Given the description of an element on the screen output the (x, y) to click on. 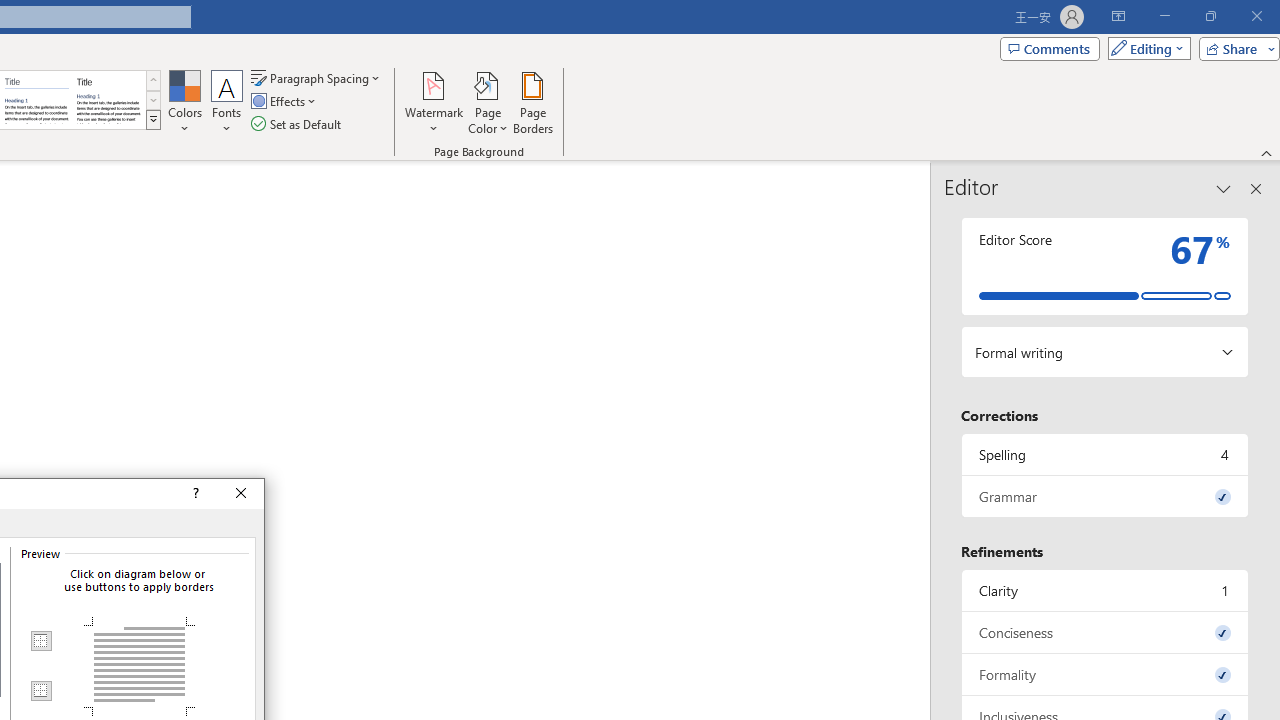
Formality, 0 issues. Press space or enter to review items. (1105, 673)
Watermark (434, 102)
Colors (184, 102)
Clarity, 1 issue. Press space or enter to review items. (1105, 590)
Bottom Border (40, 690)
